Given the description of an element on the screen output the (x, y) to click on. 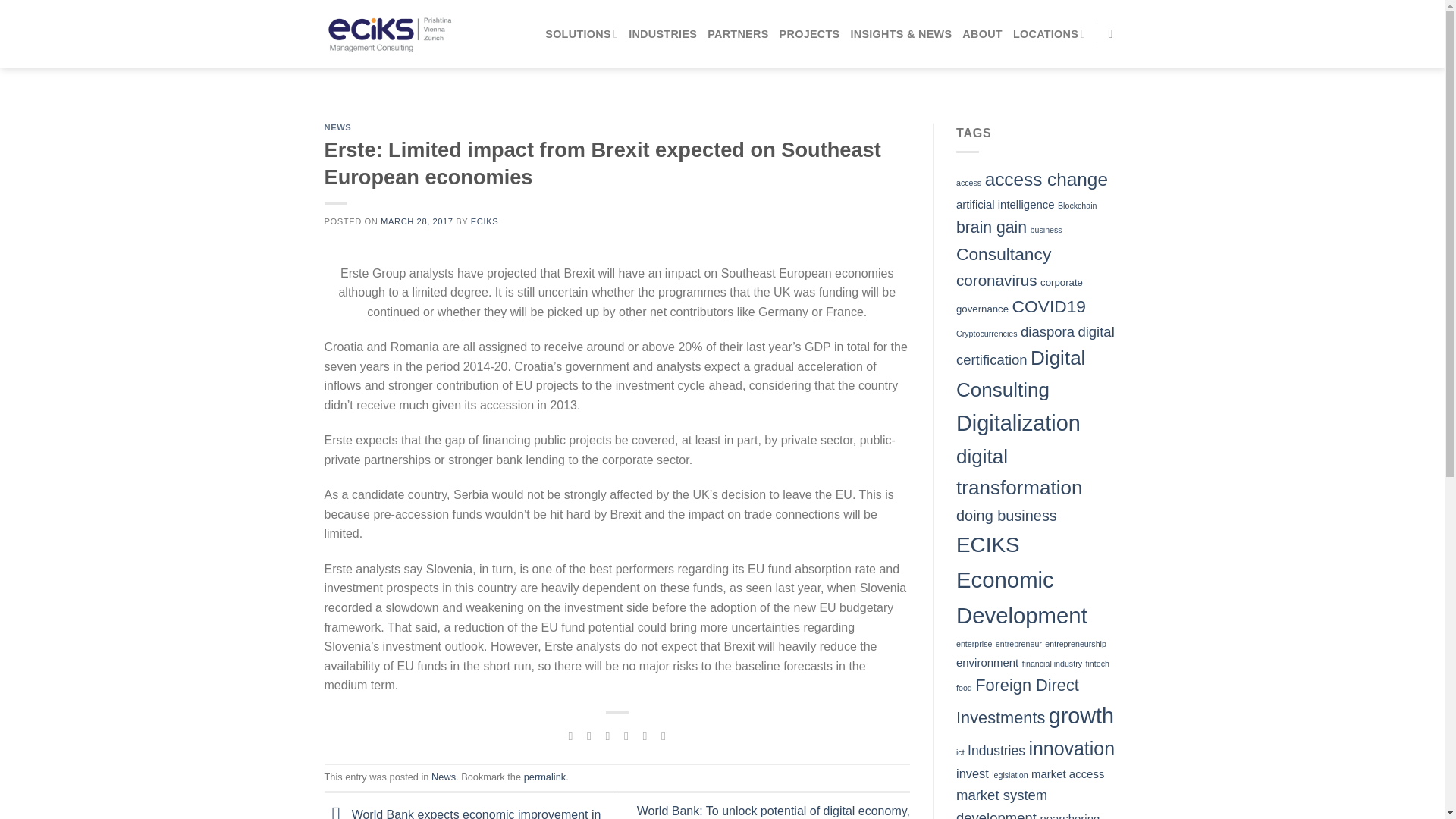
ECIKS (483, 221)
News (442, 776)
ABOUT (982, 33)
MARCH 28, 2017 (416, 221)
INDUSTRIES (662, 33)
LOCATIONS (1049, 33)
ECIKS - Management Consulting (388, 33)
PARTNERS (737, 33)
SOLUTIONS (580, 33)
NEWS (338, 126)
PROJECTS (809, 33)
